Given the description of an element on the screen output the (x, y) to click on. 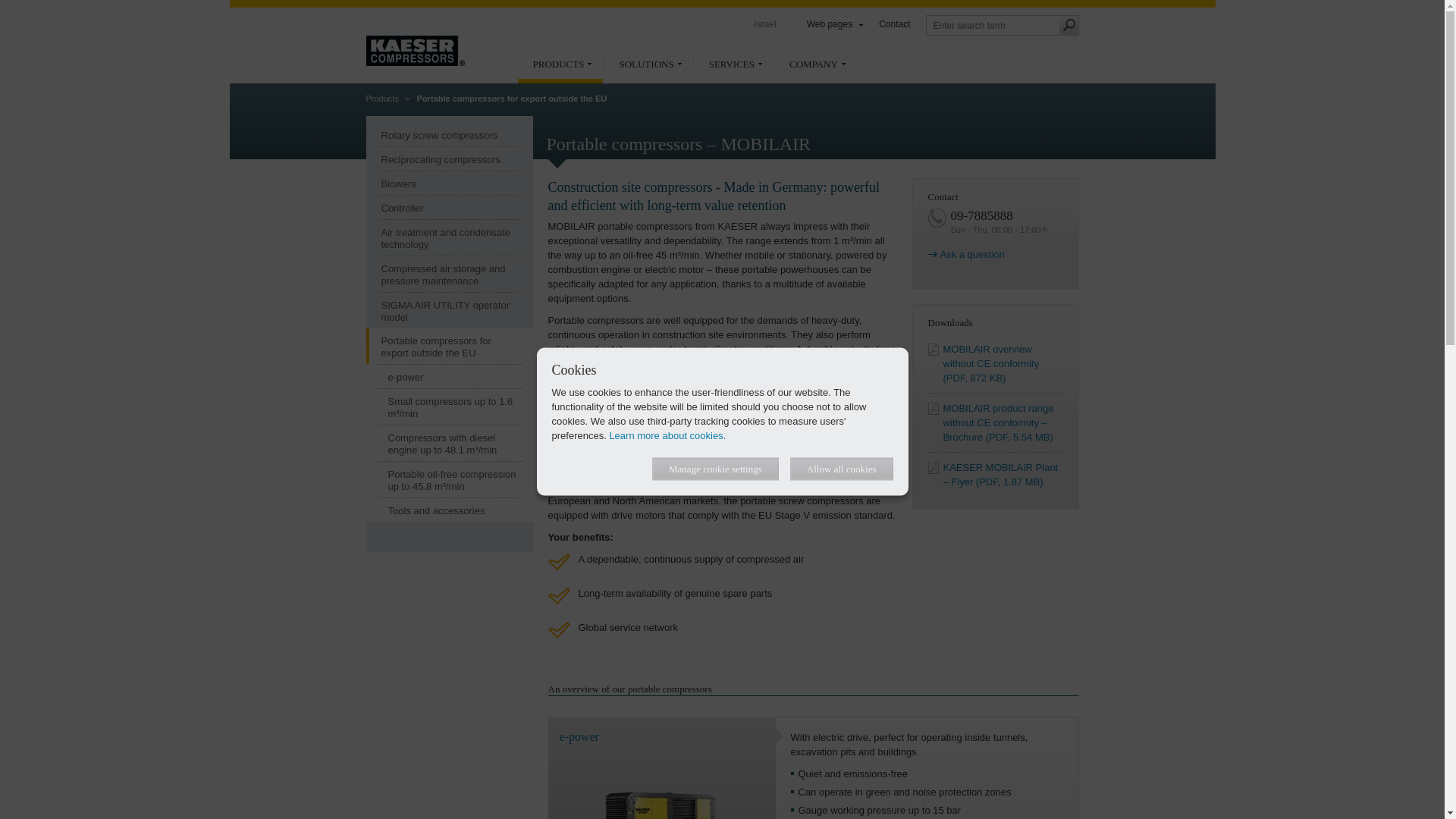
Enter search term (991, 25)
PRODUCTS (559, 69)
SERVICES (733, 69)
COMPANY (815, 69)
SOLUTIONS (648, 69)
MOBILAIR e-power from KAESER KOMPRESSOREN (660, 793)
